Given the description of an element on the screen output the (x, y) to click on. 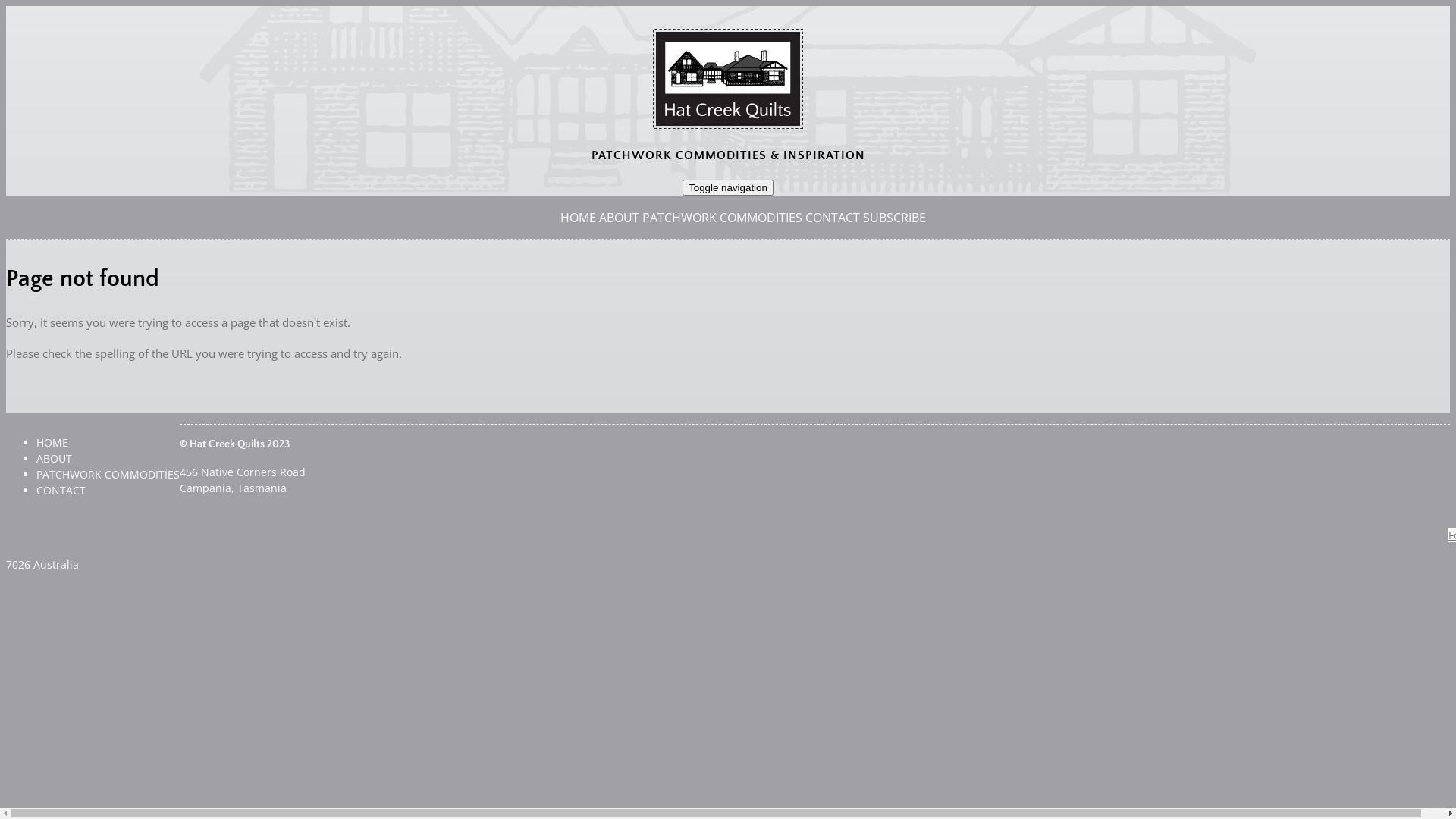
HOME Element type: text (578, 217)
CONTACT Element type: text (832, 217)
PATCHWORK COMMODITIES Element type: text (722, 217)
Toggle navigation Element type: text (727, 187)
CONTACT Element type: text (60, 490)
HOME Element type: text (52, 442)
ABOUT Element type: text (619, 217)
ABOUT Element type: text (54, 458)
PATCHWORK COMMODITIES Element type: text (107, 474)
SUBSCRIBE Element type: text (893, 217)
